Given the description of an element on the screen output the (x, y) to click on. 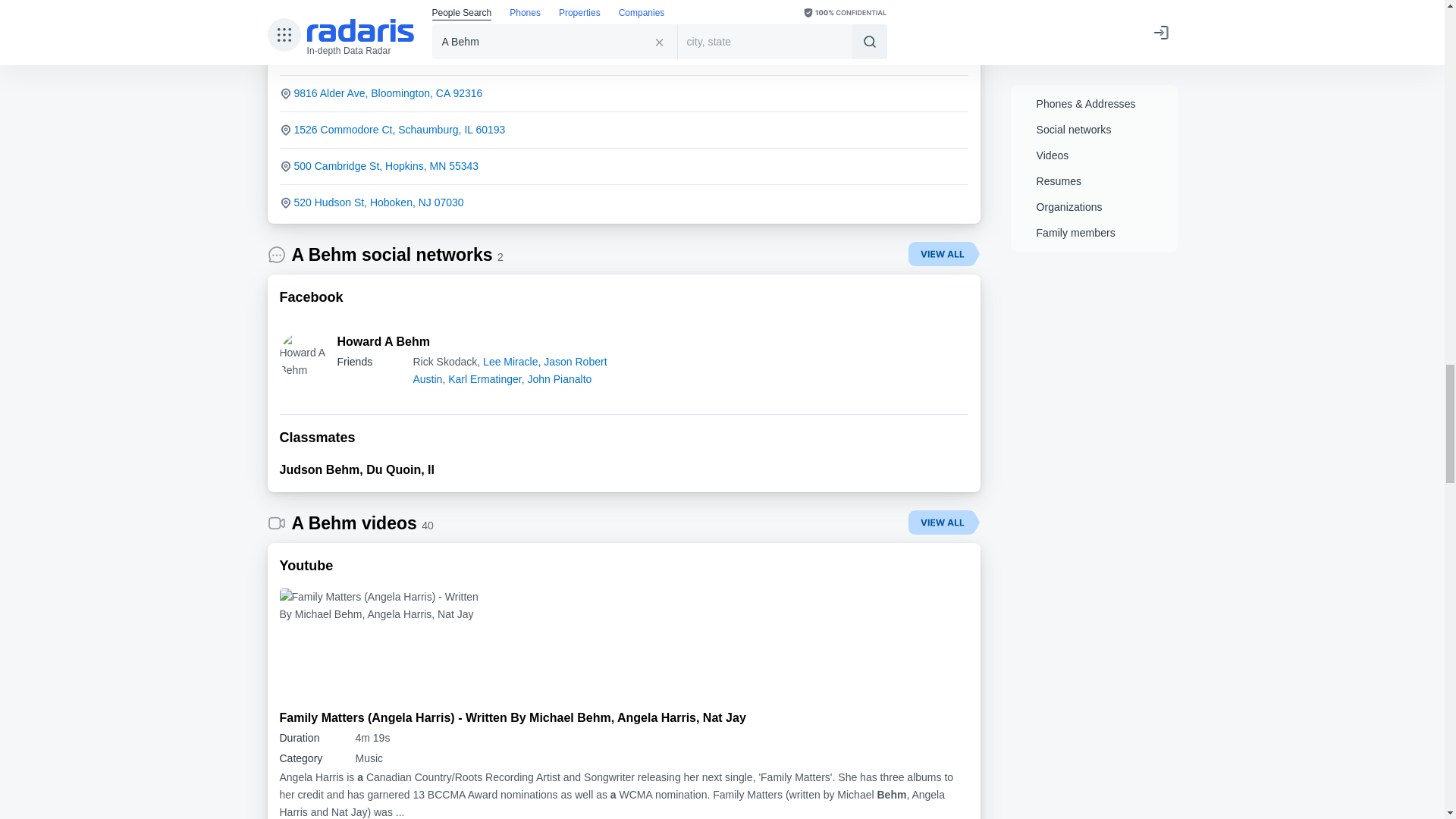
Howard A Behm (303, 356)
